Given the description of an element on the screen output the (x, y) to click on. 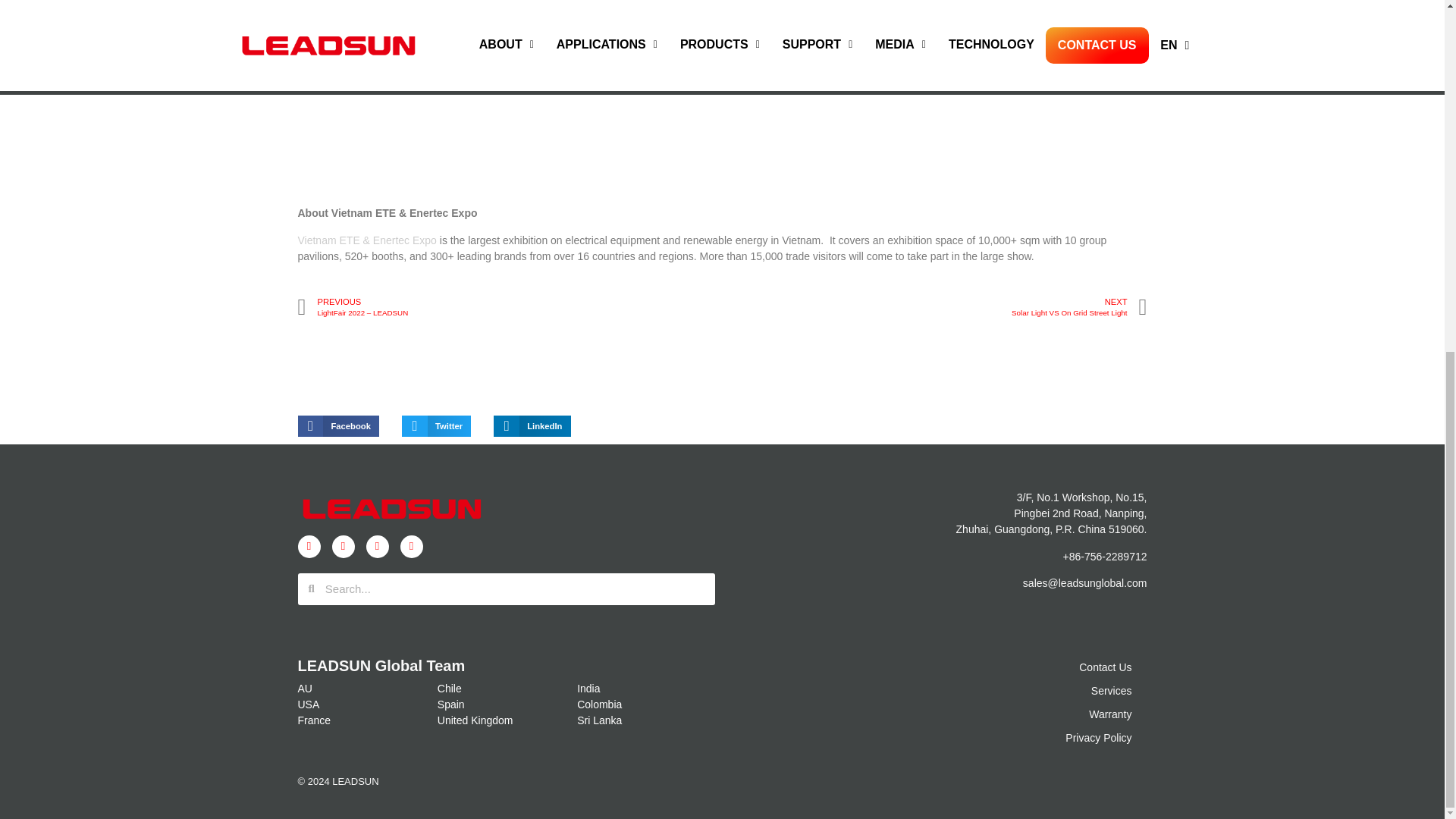
Search (514, 589)
